Given the description of an element on the screen output the (x, y) to click on. 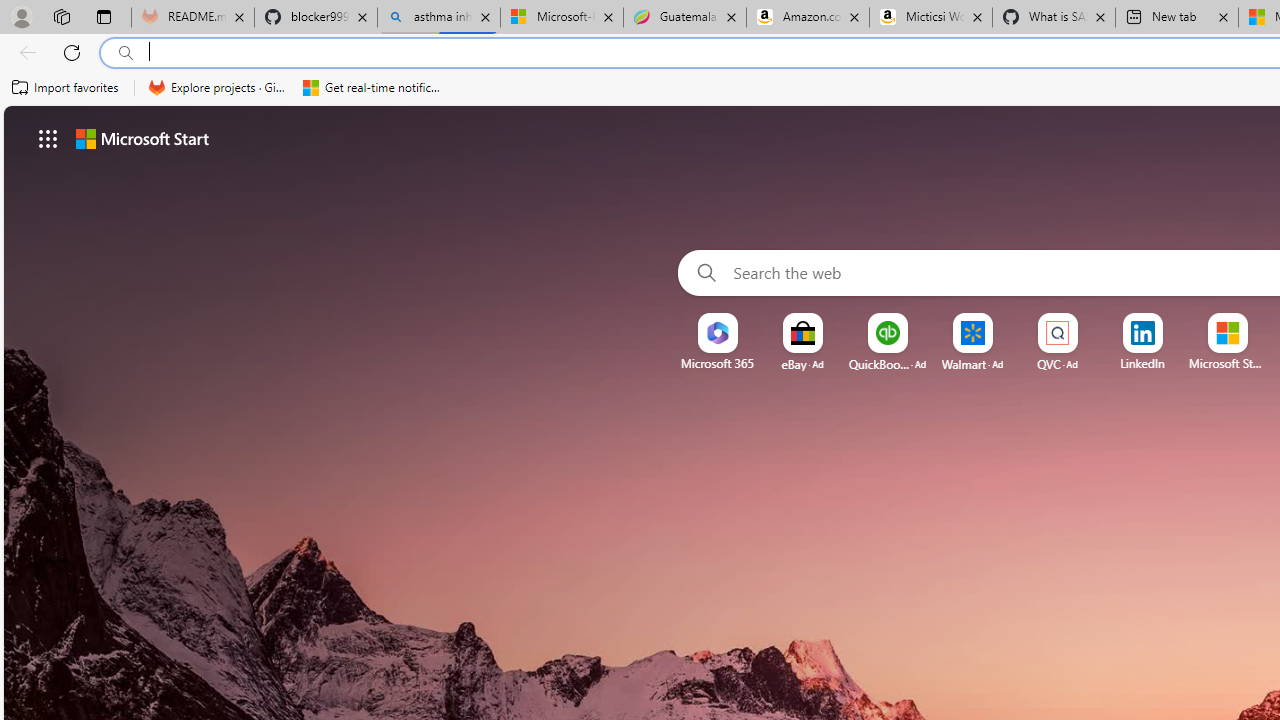
App launcher (47, 138)
Search icon (125, 53)
Microsoft start (142, 138)
asthma inhaler - Search (438, 17)
Import favorites (65, 88)
